Given the description of an element on the screen output the (x, y) to click on. 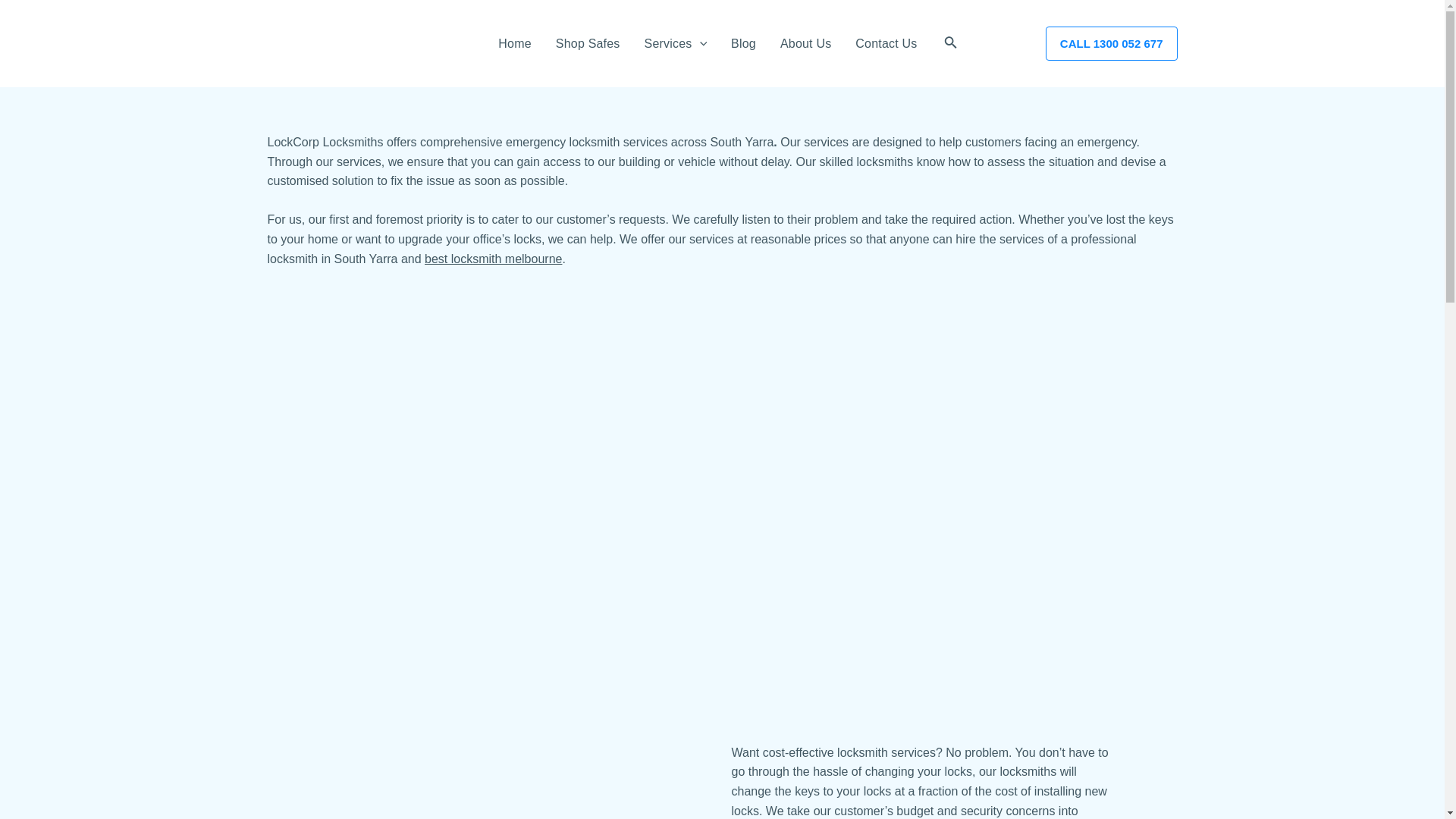
Home (514, 42)
CALL 1300 052 677 (1111, 43)
Services (675, 42)
best locksmith melbourne (493, 258)
About Us (805, 42)
Blog (743, 42)
Contact Us (885, 42)
Shop Safes (587, 42)
